Given the description of an element on the screen output the (x, y) to click on. 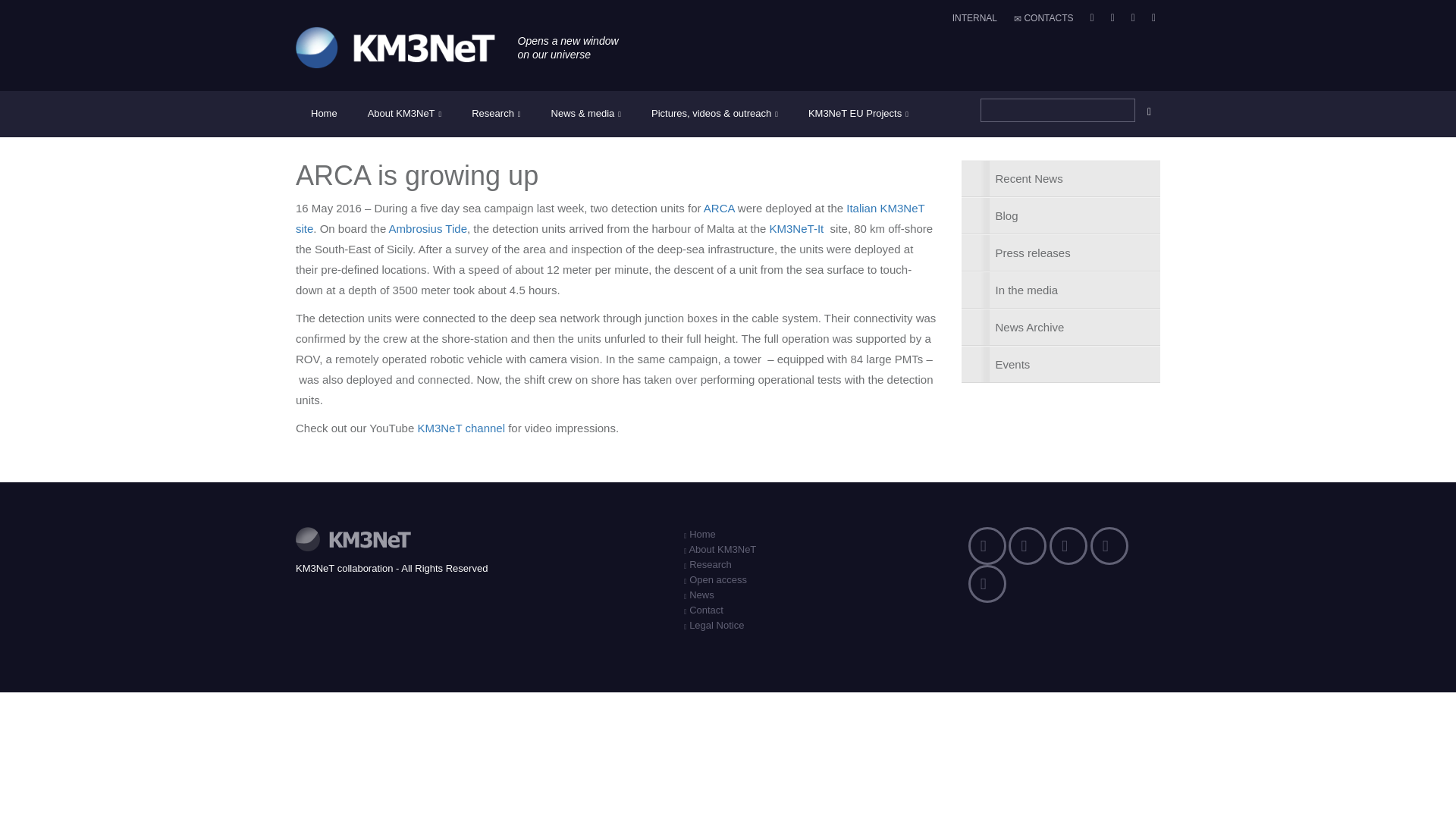
Cerca: (1057, 110)
About KM3NeT (404, 113)
Research (496, 113)
INTERNAL (971, 18)
Home (323, 113)
CONTACTS (1040, 18)
